Given the description of an element on the screen output the (x, y) to click on. 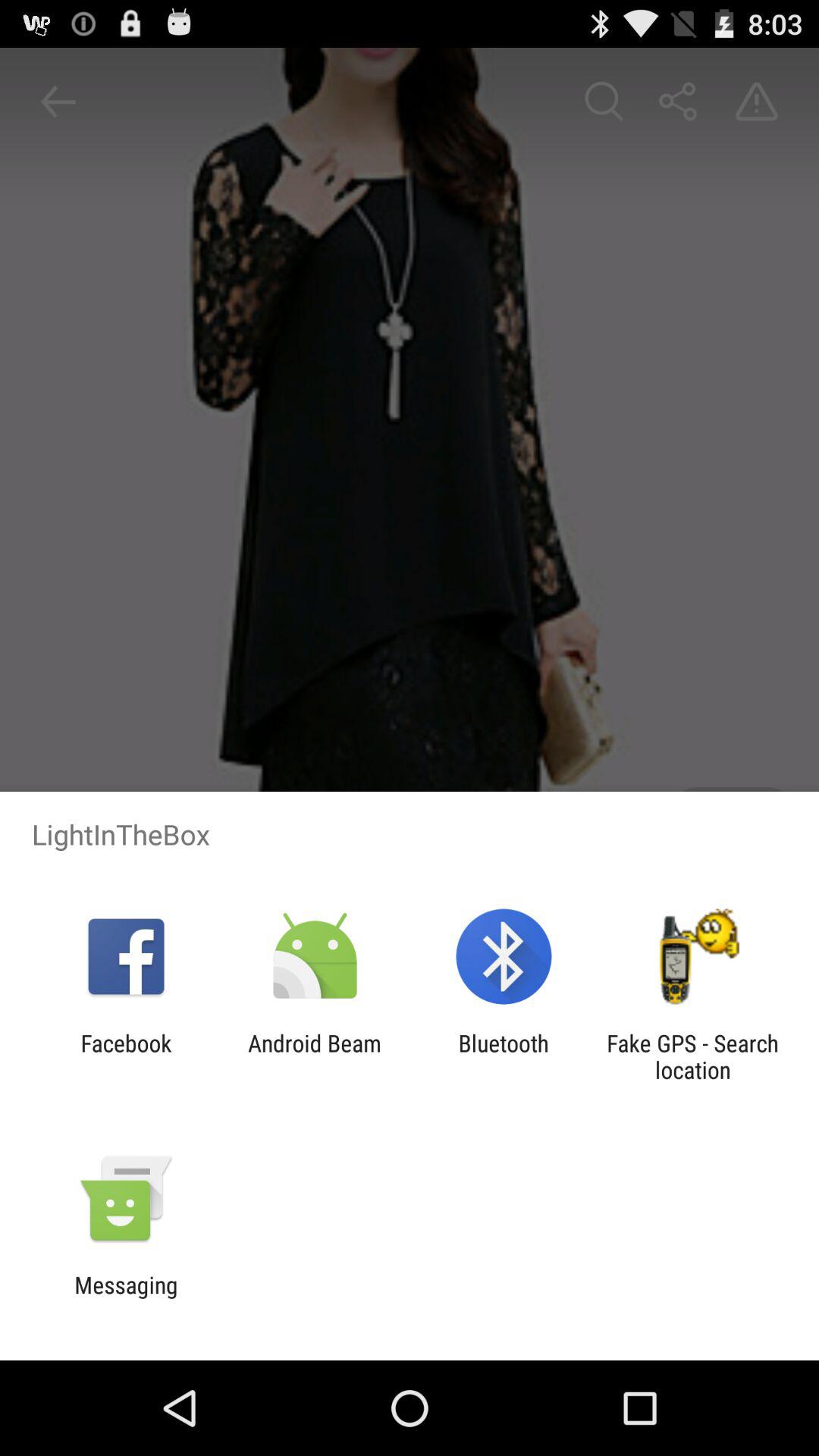
press item to the right of android beam app (503, 1056)
